Given the description of an element on the screen output the (x, y) to click on. 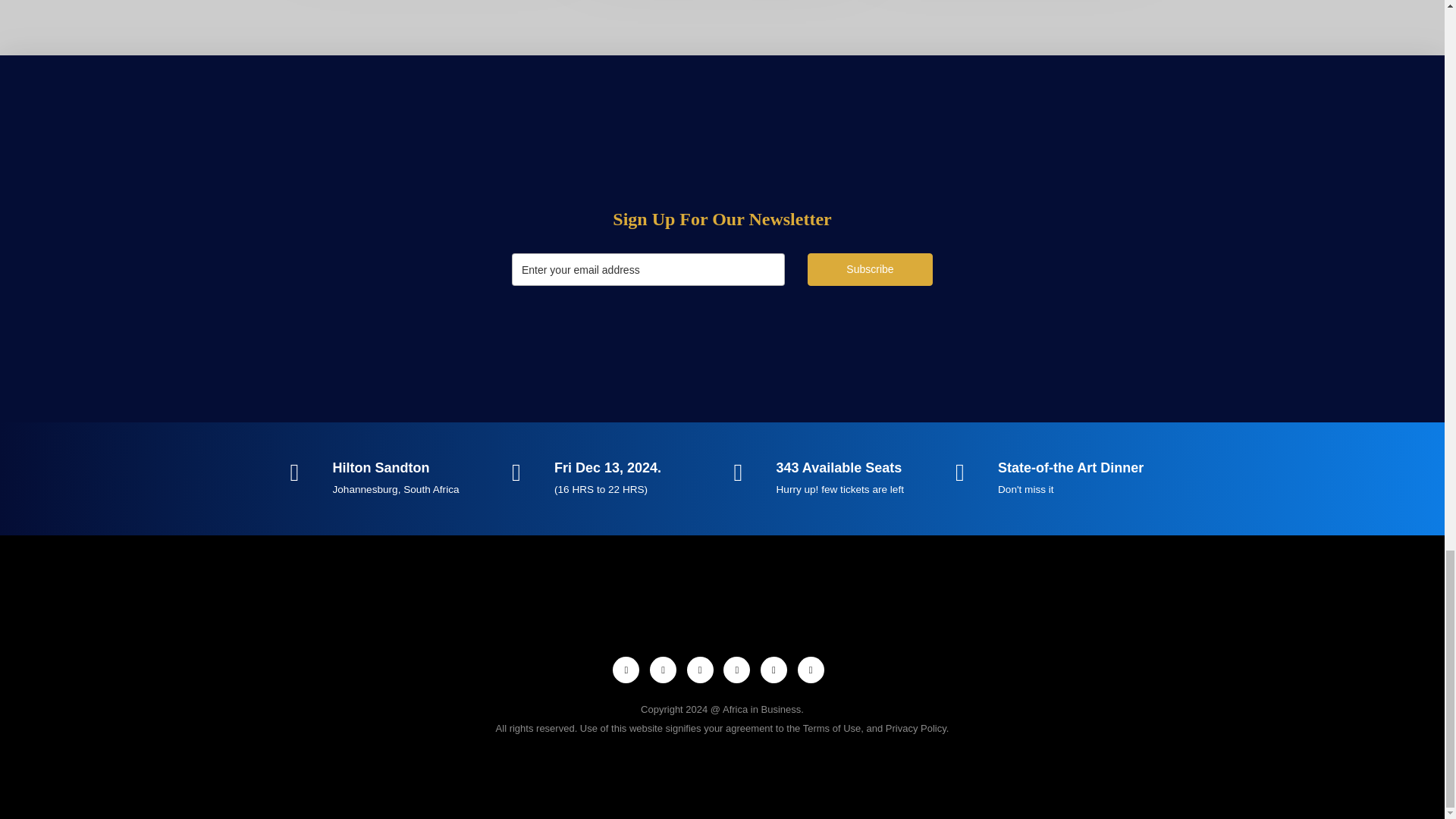
Subscribe (870, 269)
